Given the description of an element on the screen output the (x, y) to click on. 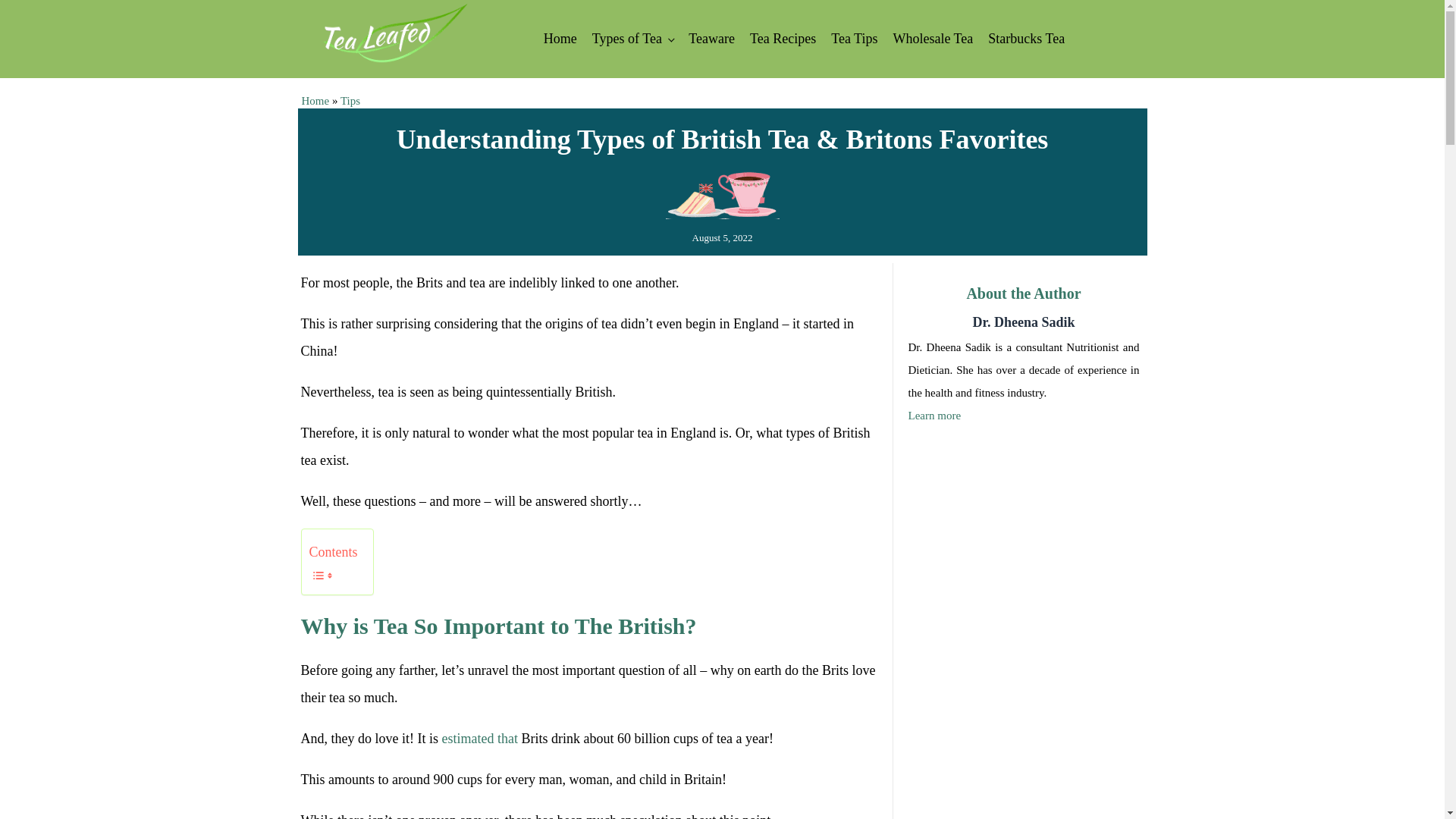
Home (315, 101)
estimated that (478, 738)
Wholesale Tea (932, 39)
Tea Tips (854, 39)
Types of Tea (633, 39)
Teaware (711, 39)
Starbucks Tea (1025, 39)
Tips (349, 101)
Home (560, 39)
Tea Recipes (783, 39)
